Given the description of an element on the screen output the (x, y) to click on. 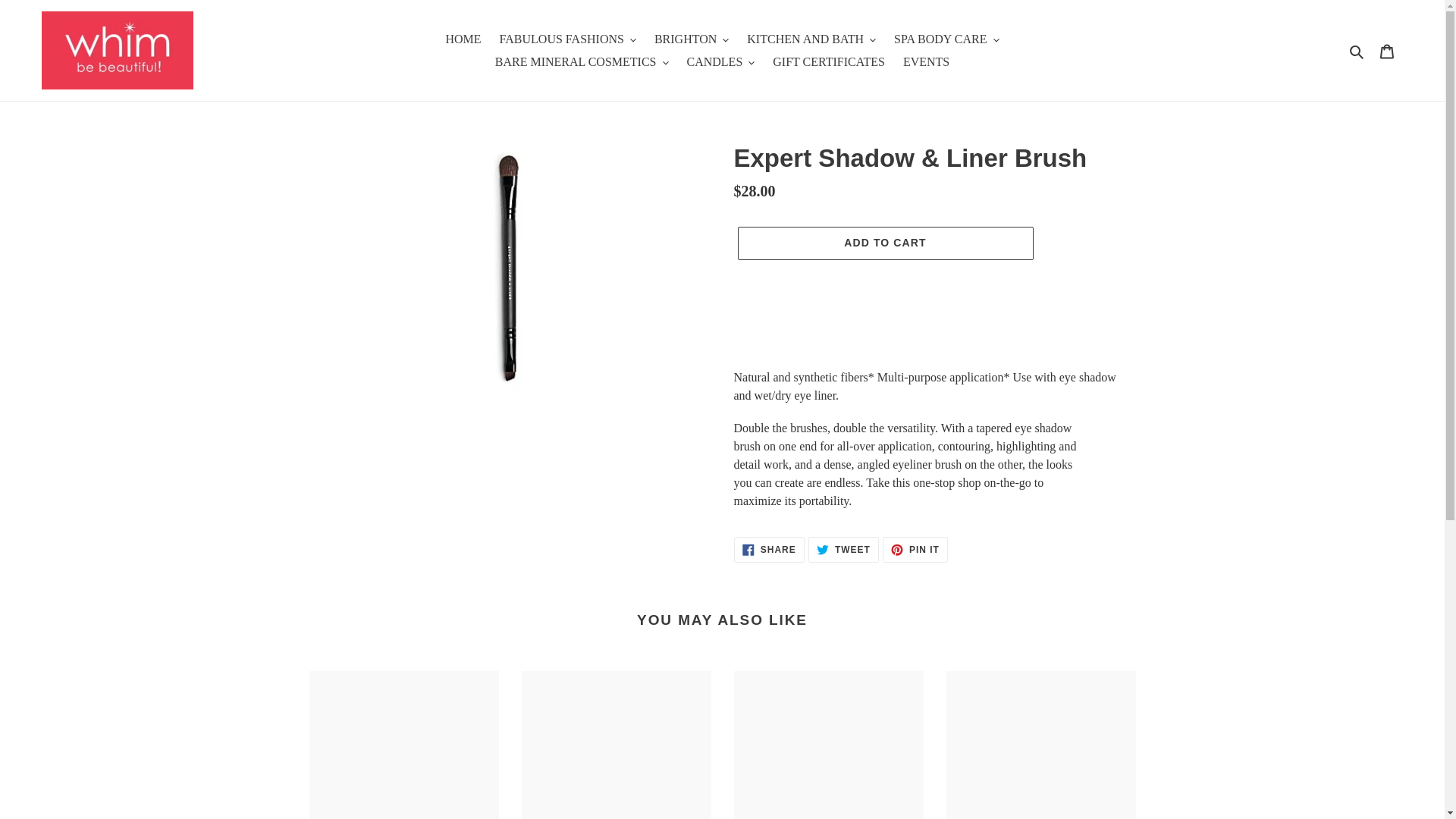
HOME (462, 38)
BRIGHTON (691, 38)
FABULOUS FASHIONS (567, 38)
KITCHEN AND BATH (811, 38)
